Given the description of an element on the screen output the (x, y) to click on. 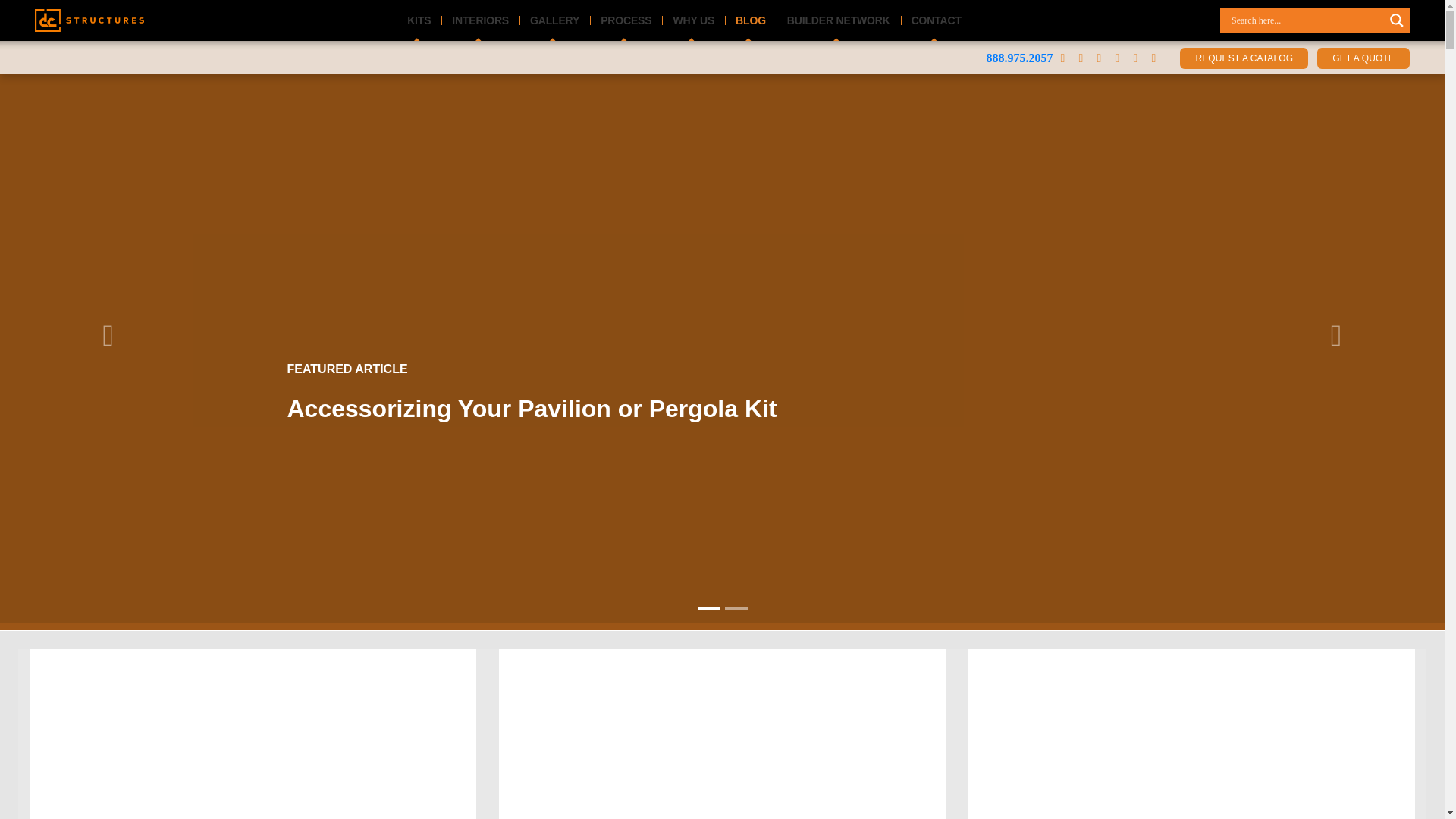
DC Structures (89, 20)
KITS (418, 20)
